Given the description of an element on the screen output the (x, y) to click on. 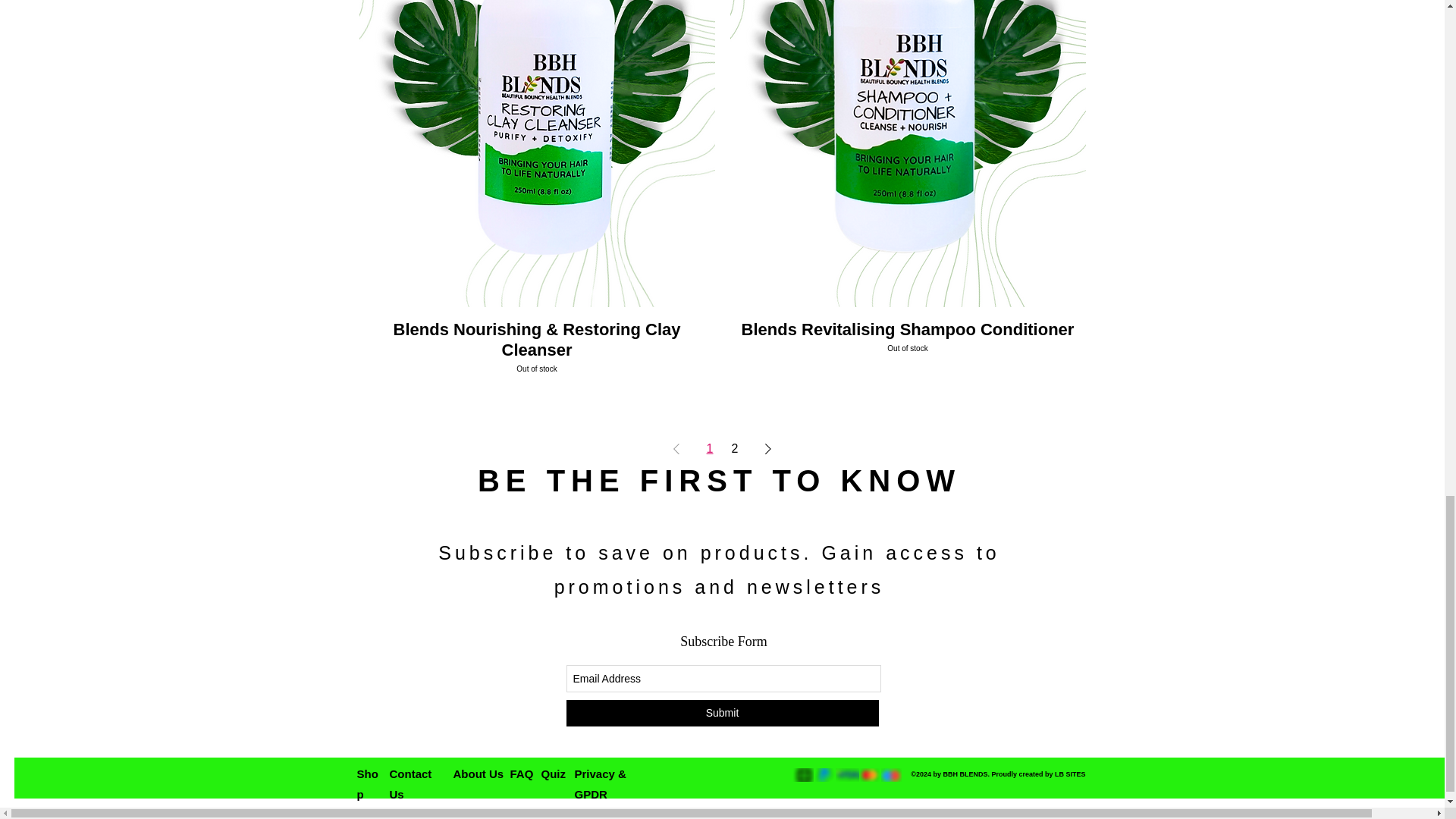
FAQ (520, 773)
Contact Us (411, 783)
Quiz (553, 773)
Submit (906, 346)
About Us (721, 713)
